Given the description of an element on the screen output the (x, y) to click on. 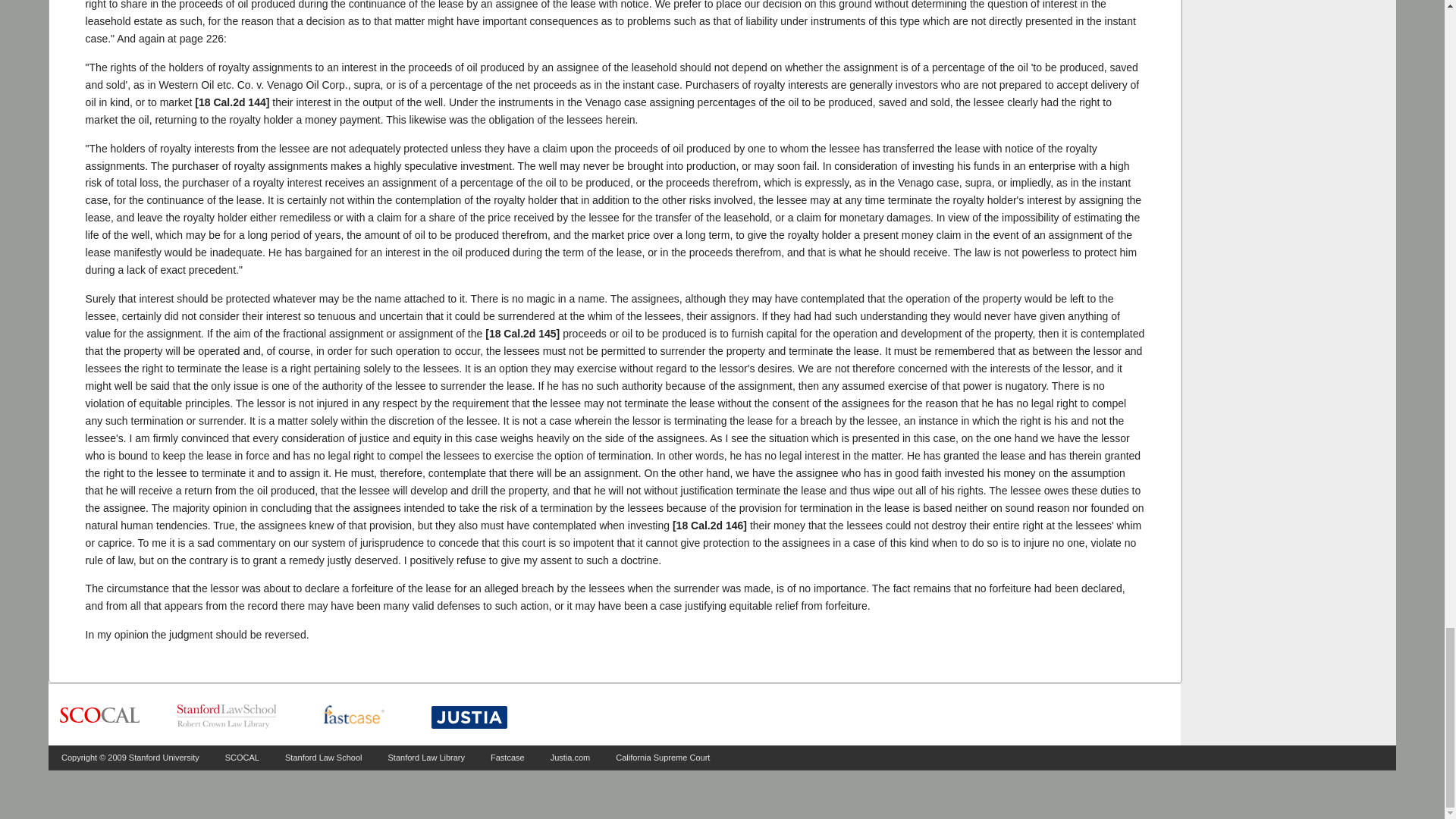
Fastcase (507, 757)
Justia.com (570, 757)
Stanford Law School (323, 757)
California Supreme Court (662, 757)
SCOCAL (242, 757)
Stanford Law Library (426, 757)
fastcase (353, 716)
Justia (468, 716)
Supreme Court of California (99, 715)
Stanford Law School - Robert Crown Law Library (226, 715)
